Given the description of an element on the screen output the (x, y) to click on. 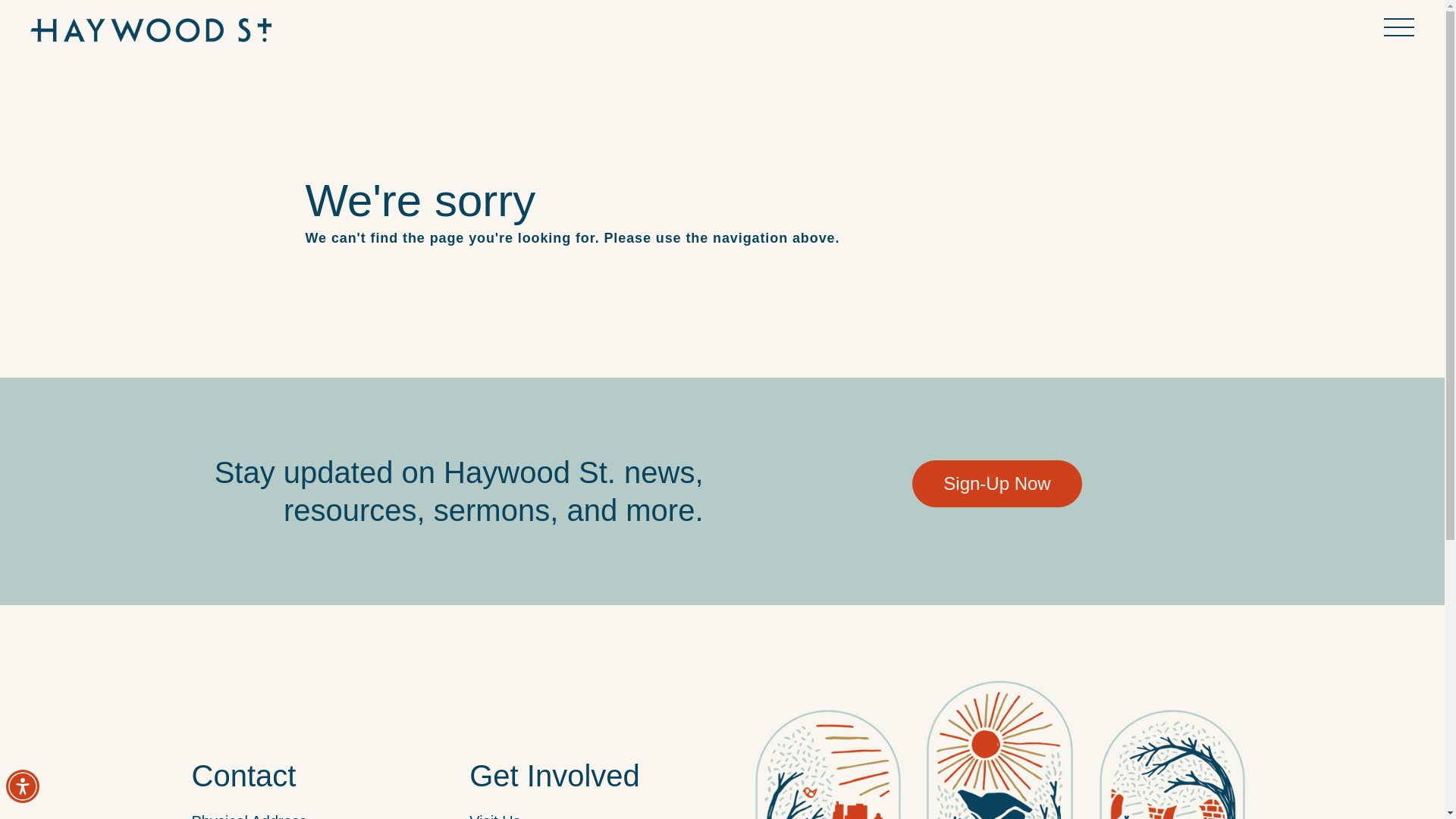
Accessibility Menu (22, 786)
Visit Us (493, 816)
Sign-Up Now (996, 483)
